Given the description of an element on the screen output the (x, y) to click on. 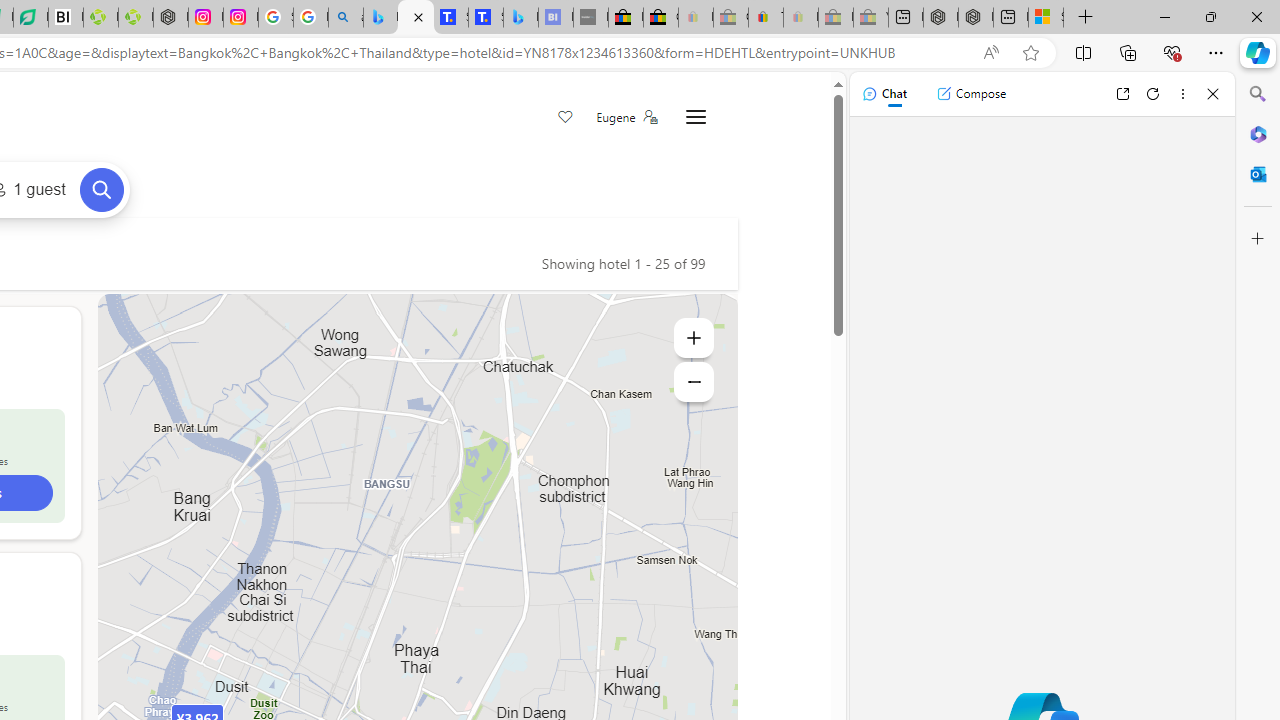
Save (565, 118)
Save (565, 118)
Nordace - Nordace Edin Collection (170, 17)
Shangri-La Bangkok, Hotel reviews and Room rates (485, 17)
Microsoft Bing Travel - Stays in Bangkok, Bangkok, Thailand (415, 17)
Microsoft Bing Travel - Flights from Hong Kong to Bangkok (380, 17)
Press Room - eBay Inc. - Sleeping (835, 17)
LendingTree - Compare Lenders (31, 17)
